Given the description of an element on the screen output the (x, y) to click on. 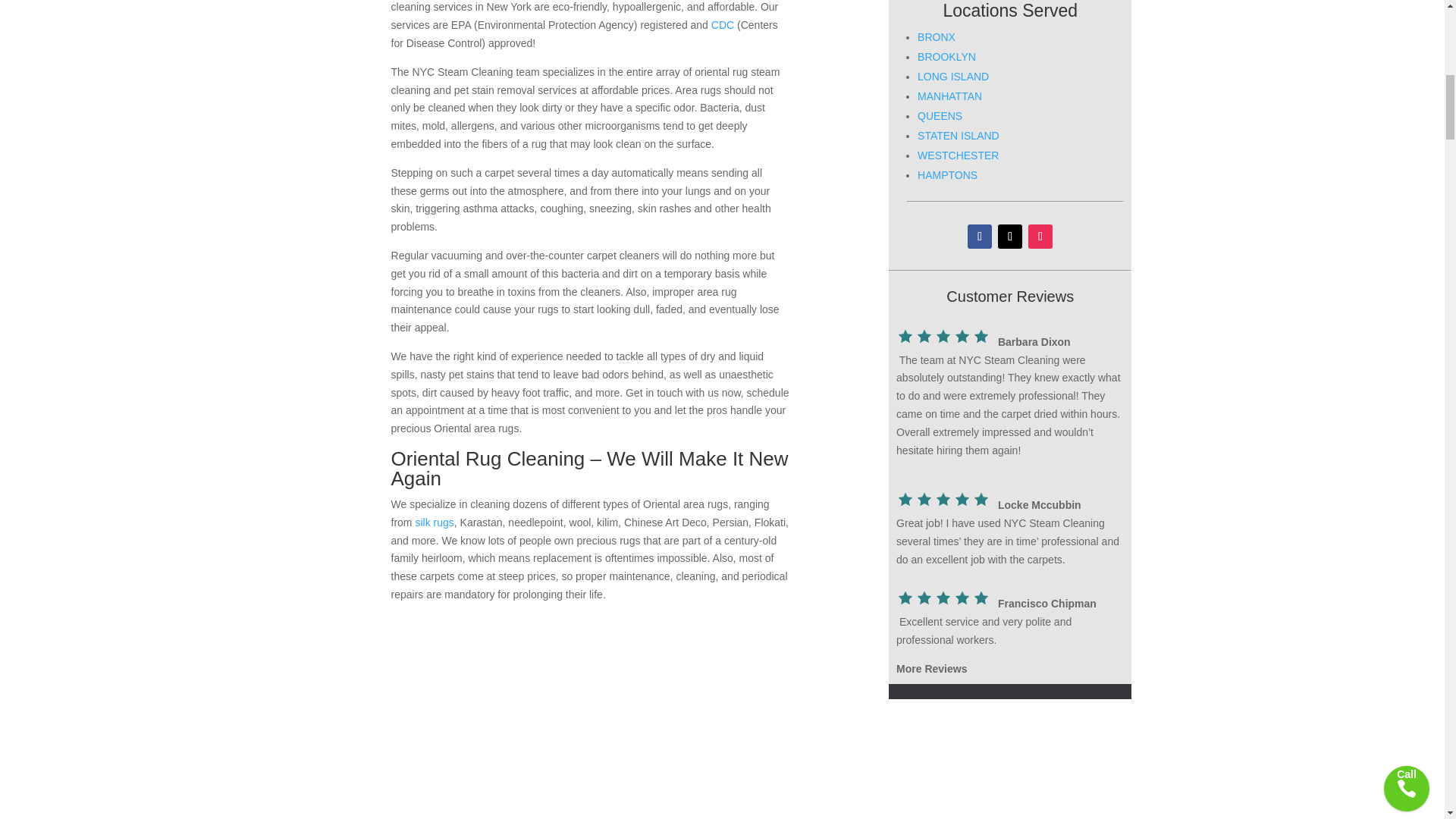
Follow on X (1009, 236)
Follow on Instagram (1039, 236)
Follow on Facebook (979, 236)
